Given the description of an element on the screen output the (x, y) to click on. 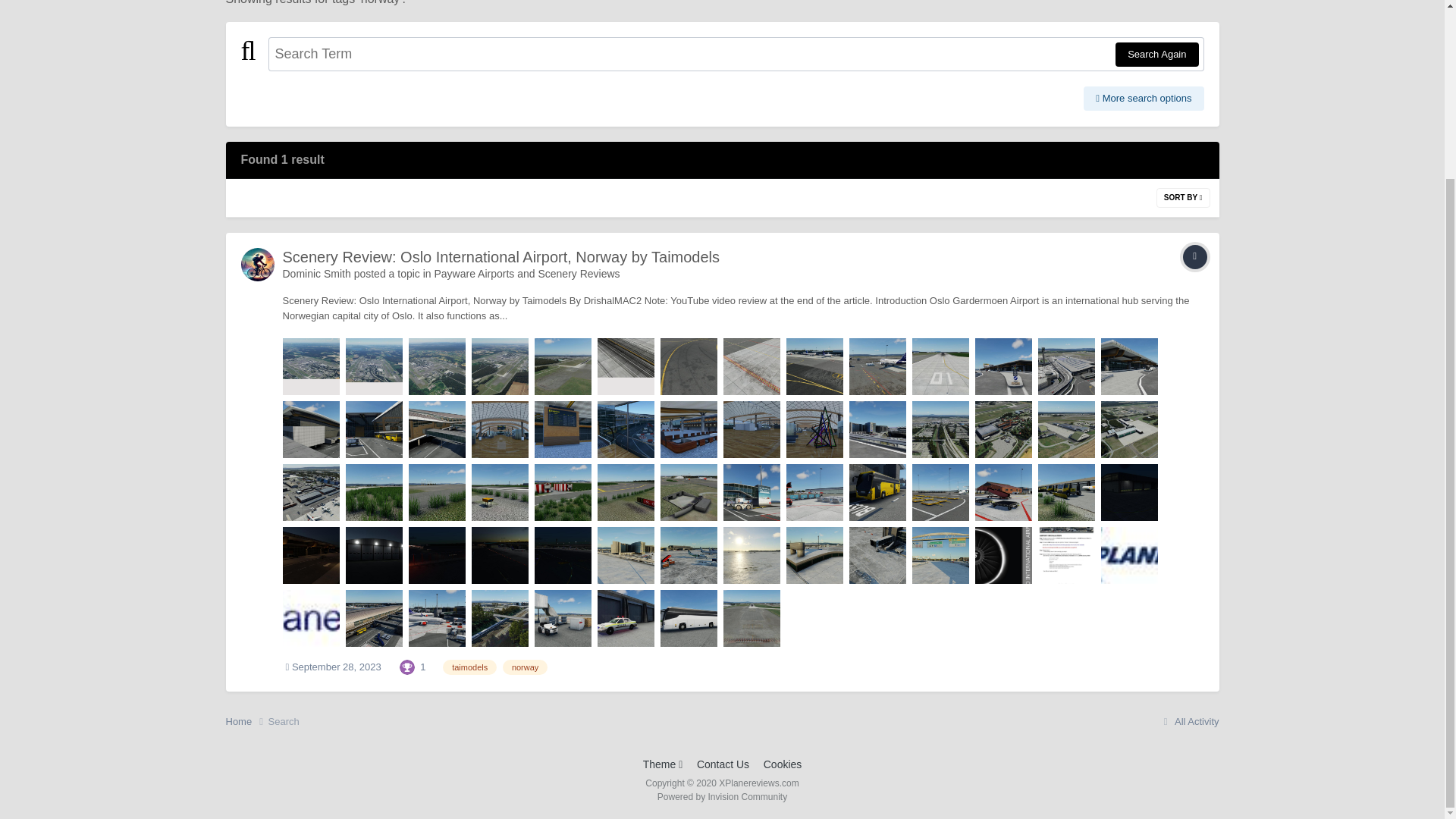
Home (246, 721)
See who reacted "Thanks" (406, 665)
More search options (1143, 98)
Find other content tagged with 'taimodels' (469, 667)
Find other content tagged with 'norway' (524, 667)
Search Again (1156, 54)
Go to Dominic Smith's profile (258, 264)
Go to Dominic Smith's profile (316, 273)
Topic (1194, 256)
Invision Community (722, 796)
